Given the description of an element on the screen output the (x, y) to click on. 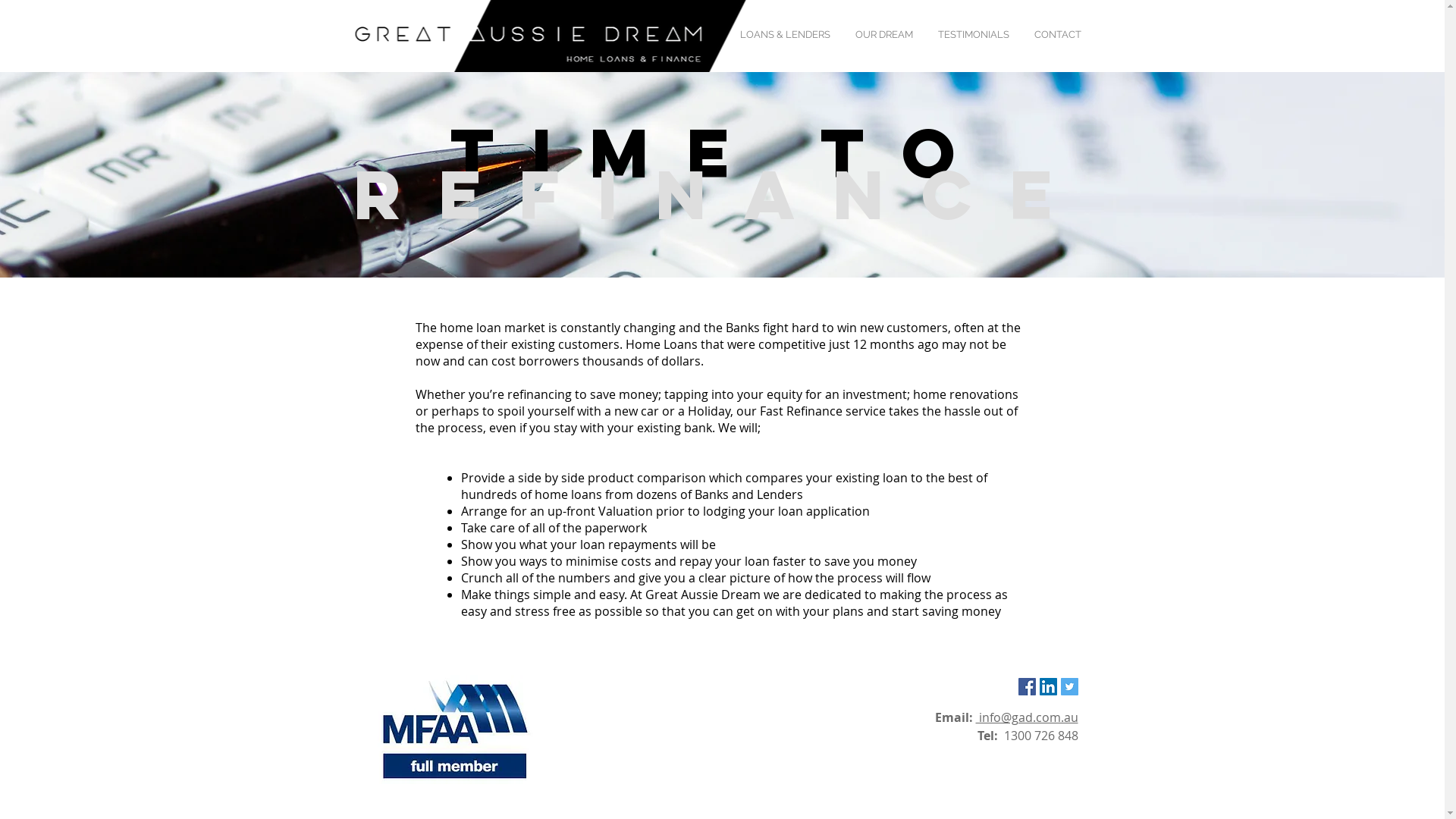
TESTIMONIALS Element type: text (973, 34)
LOANS & LENDERS Element type: text (784, 34)
OUR DREAM Element type: text (884, 34)
CONTACT Element type: text (1058, 34)
